Given the description of an element on the screen output the (x, y) to click on. 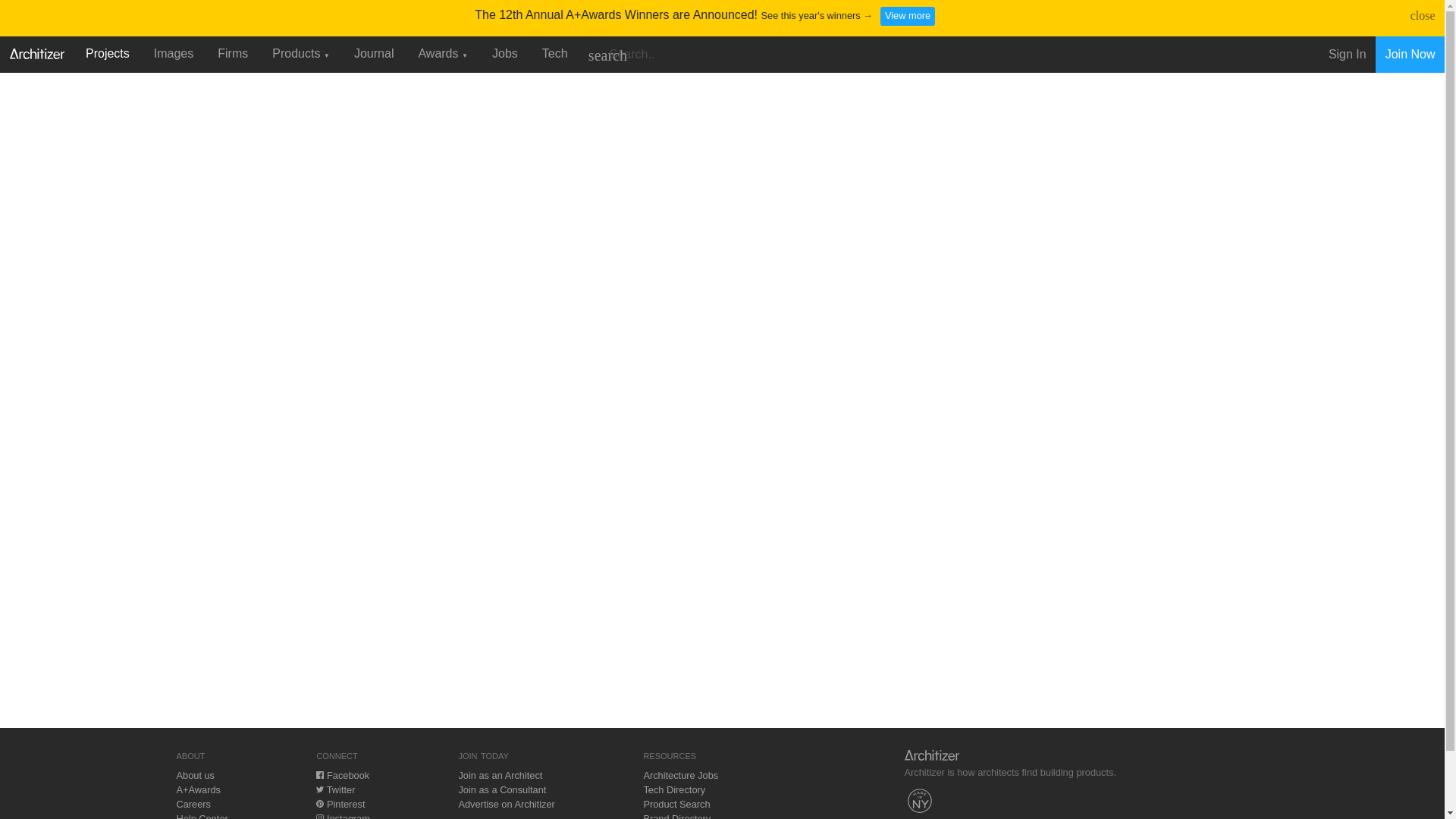
Facebook (342, 775)
Sign In (1347, 54)
Architecture Jobs (680, 775)
Images (173, 53)
Join as a Consultant (502, 789)
Firms (232, 53)
Journal (374, 53)
Product Search (676, 803)
About us (195, 775)
Help Center (201, 816)
